Given the description of an element on the screen output the (x, y) to click on. 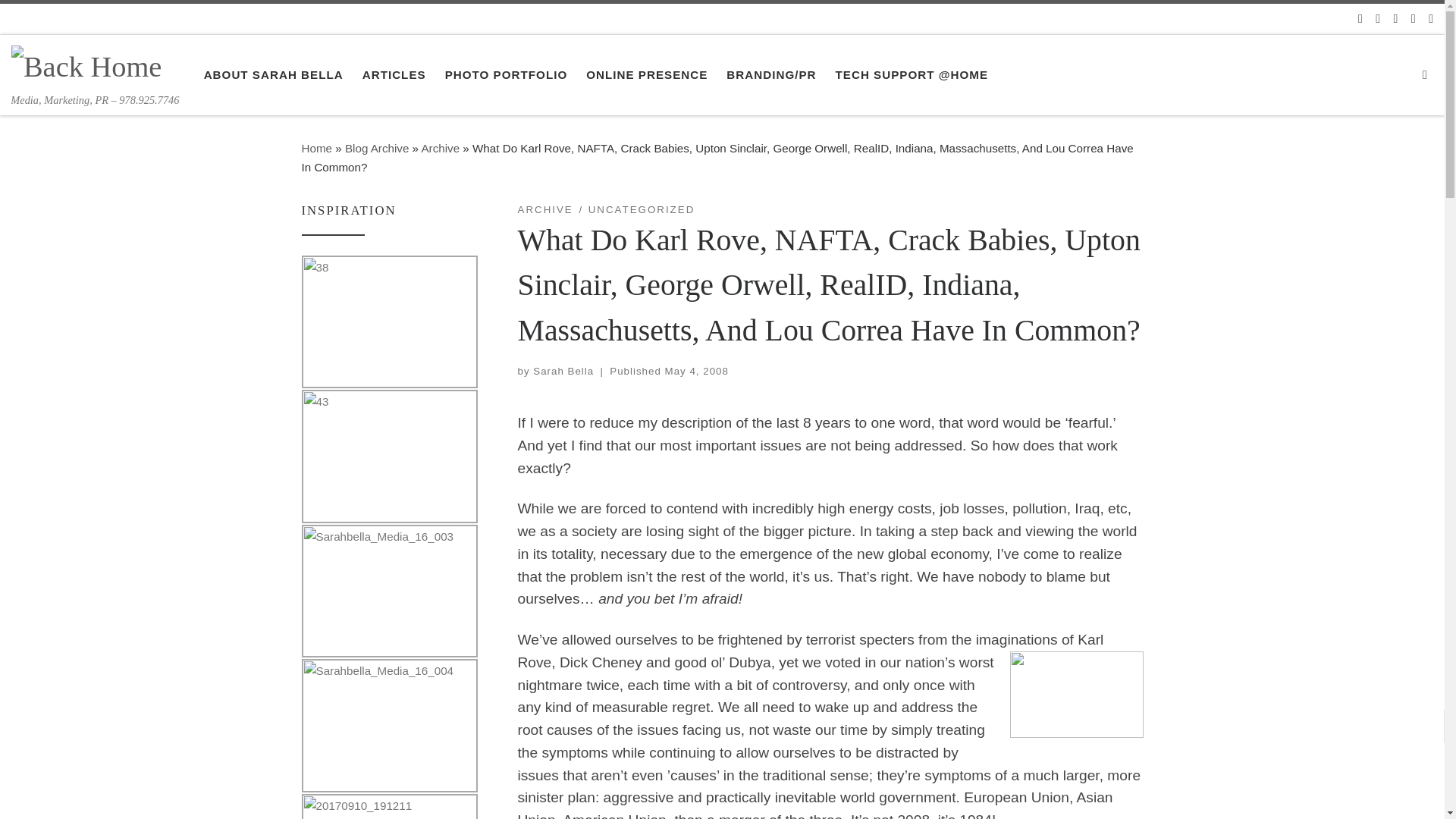
ARTICLES (392, 74)
May 4, 2008 (697, 370)
Home (317, 147)
ARCHIVE (544, 209)
Blog Archive (377, 147)
Skip to content (63, 20)
View all posts by Sarah Bella (563, 370)
View all posts in Uncategorized (641, 209)
UNCATEGORIZED (641, 209)
ABOUT SARAH BELLA (272, 74)
PHOTO PORTFOLIO (505, 74)
Archive (440, 147)
Archive (440, 147)
12:18 am (697, 370)
Blog Archive (377, 147)
